Given the description of an element on the screen output the (x, y) to click on. 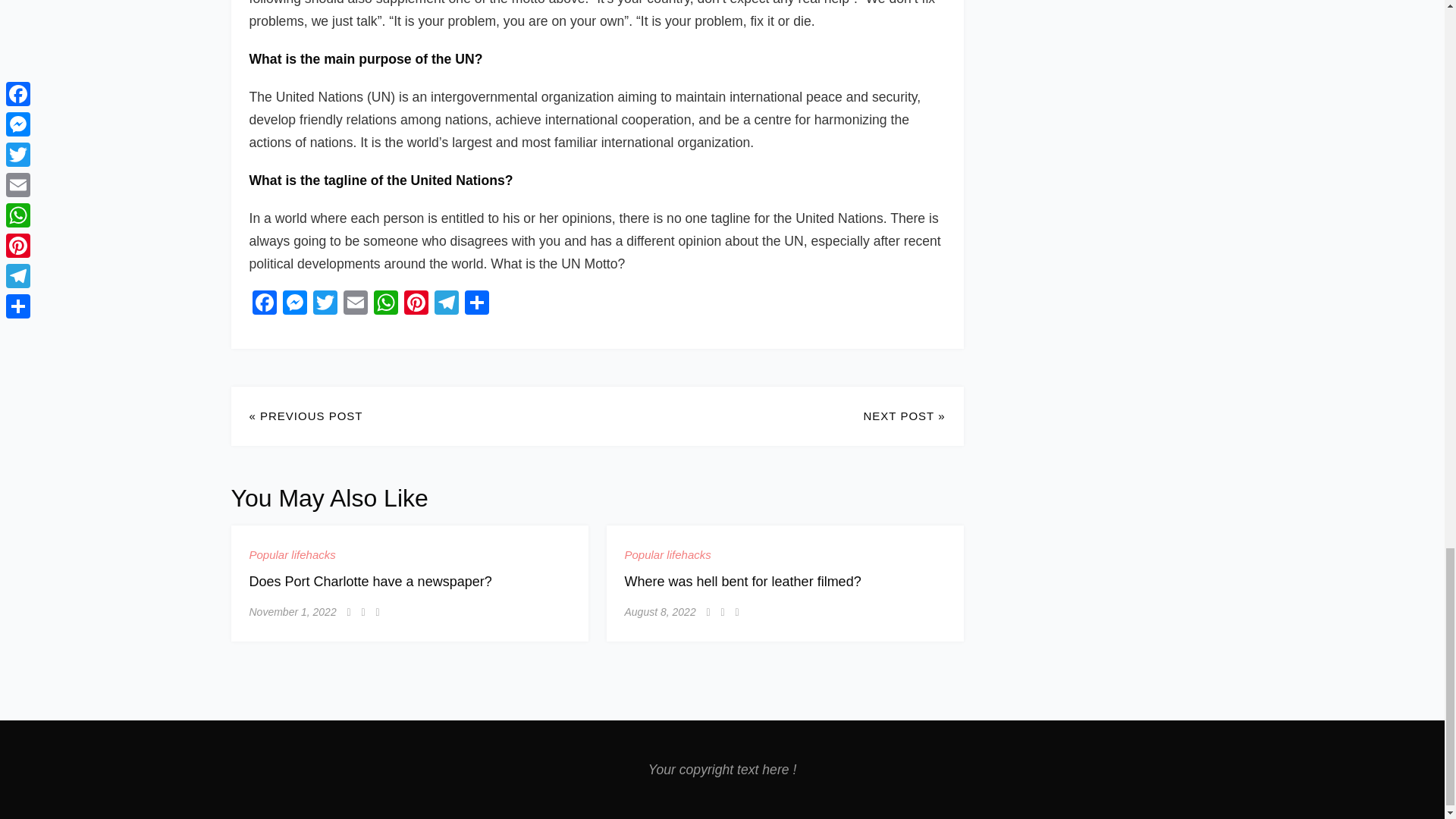
Email (354, 304)
Pinterest (415, 304)
WhatsApp (384, 304)
Facebook (263, 304)
Telegram (445, 304)
Twitter (323, 304)
Telegram (445, 304)
Does Port Charlotte have a newspaper? (370, 581)
Messenger (293, 304)
November 1, 2022 (292, 611)
